Given the description of an element on the screen output the (x, y) to click on. 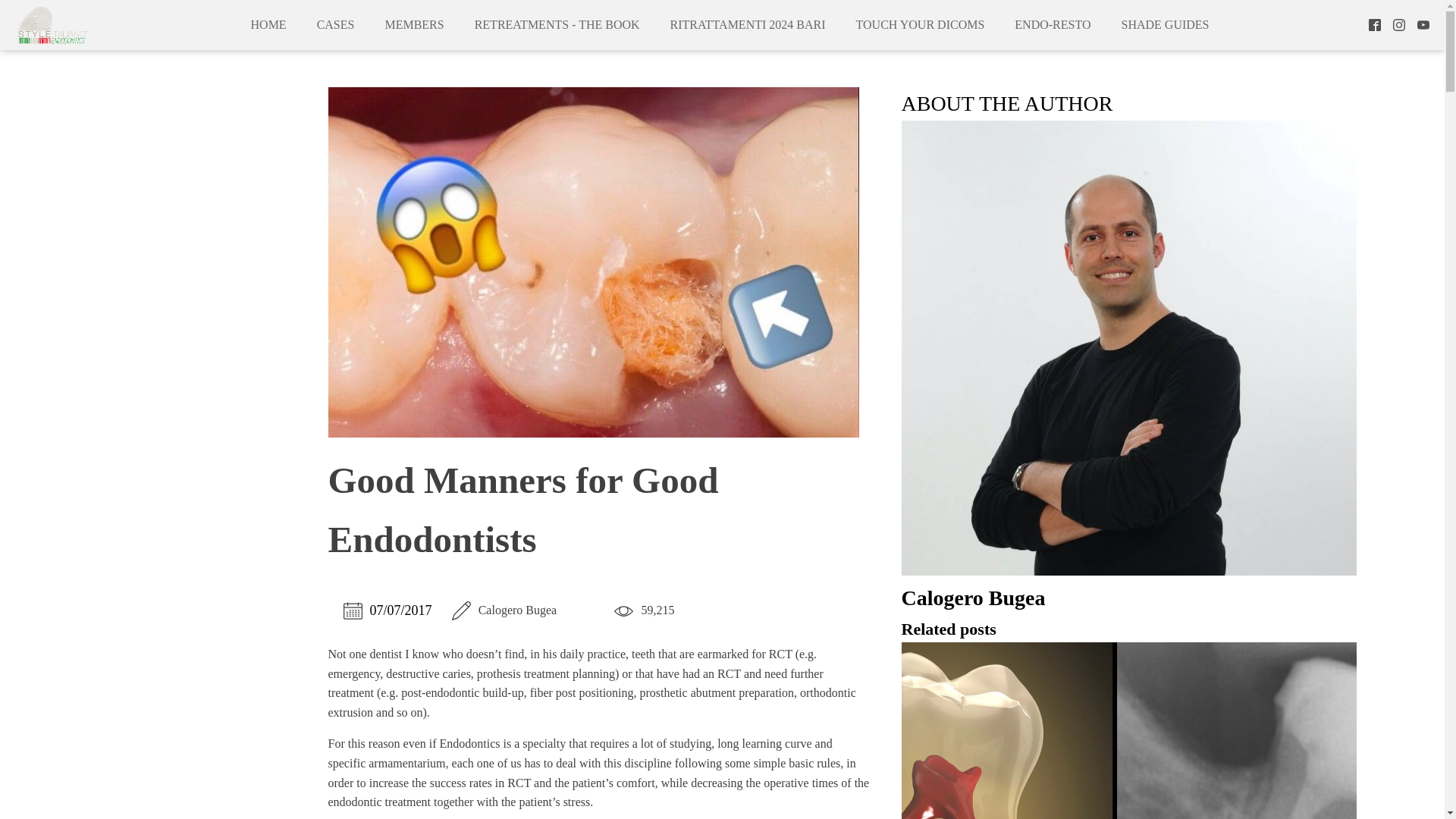
CASES (335, 24)
Calogero Bugea (1128, 606)
TOUCH YOUR DICOMS (920, 24)
HOME (268, 24)
SHADE GUIDES (1164, 24)
RITRATTAMENTI 2024 BARI (748, 24)
ENDO-RESTO (1051, 24)
MEMBERS (413, 24)
RETREATMENTS - THE BOOK (557, 24)
